Given the description of an element on the screen output the (x, y) to click on. 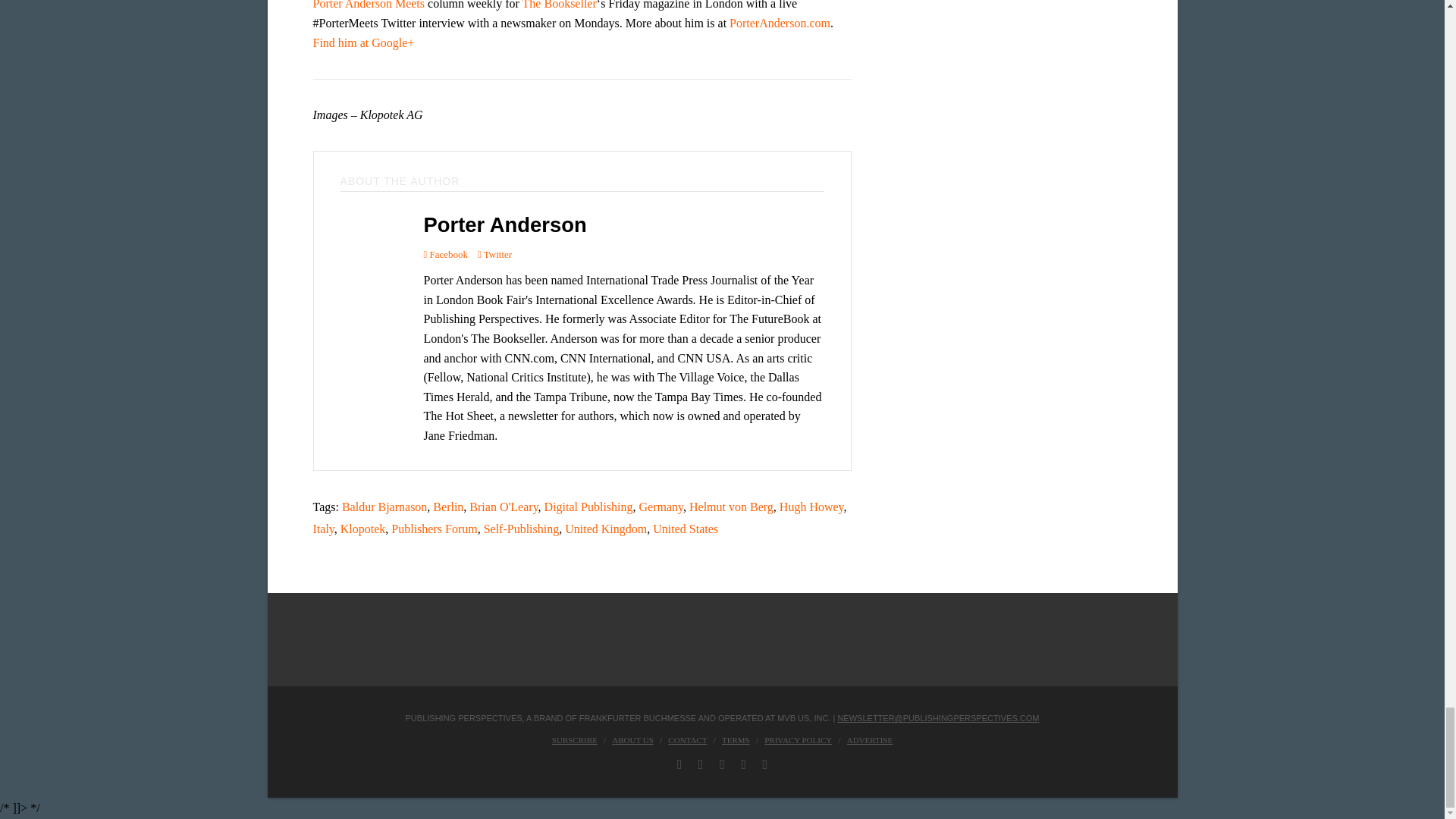
Visit the Facebook Profile for Porter Anderson (445, 253)
Visit the Twitter Profile for Porter Anderson (494, 253)
Subscribe to Publishing Perspectives (573, 739)
Terms and Conditions (735, 739)
